Given the description of an element on the screen output the (x, y) to click on. 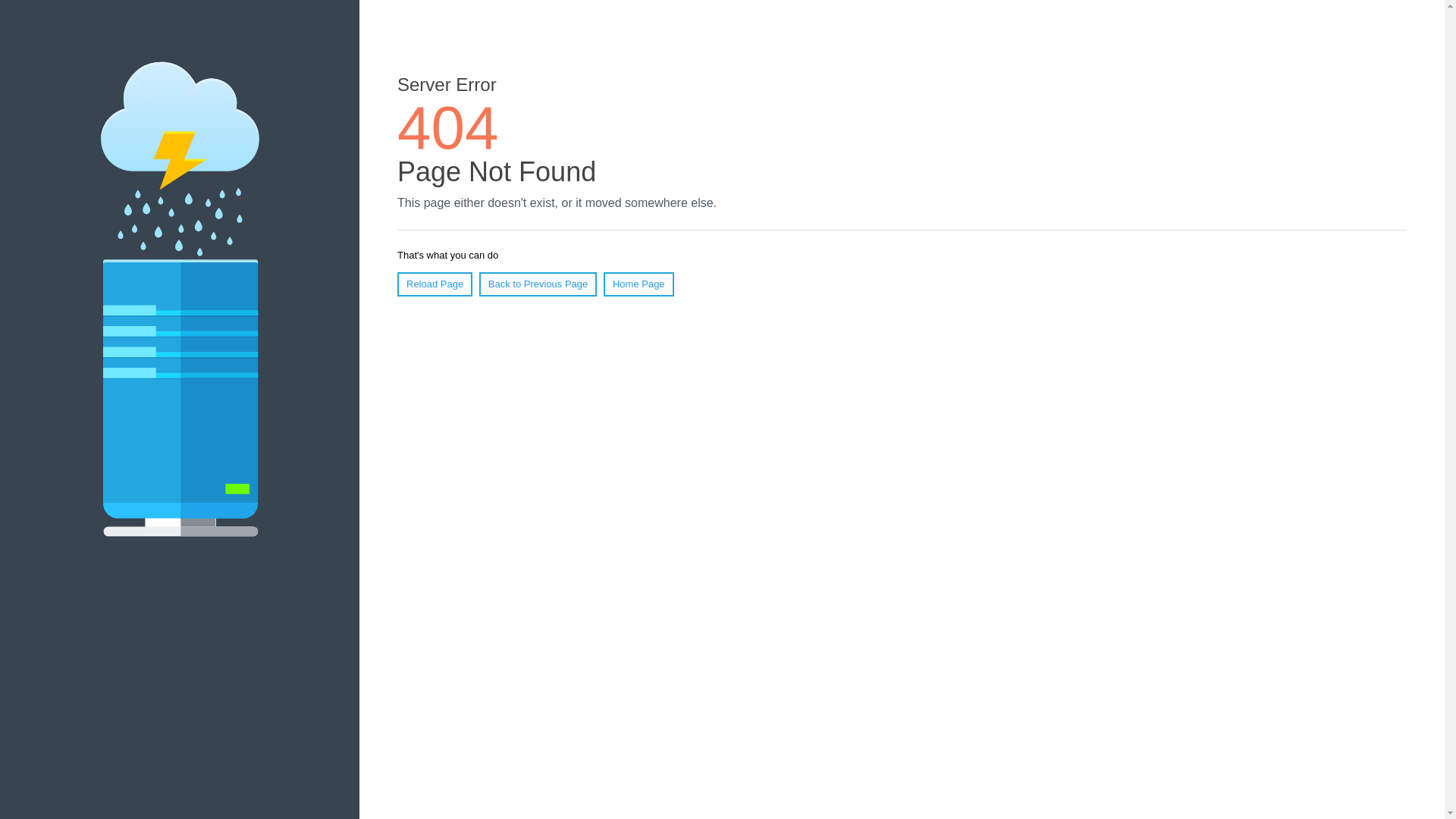
Home Page Element type: text (638, 284)
Back to Previous Page Element type: text (538, 284)
Reload Page Element type: text (434, 284)
